Given the description of an element on the screen output the (x, y) to click on. 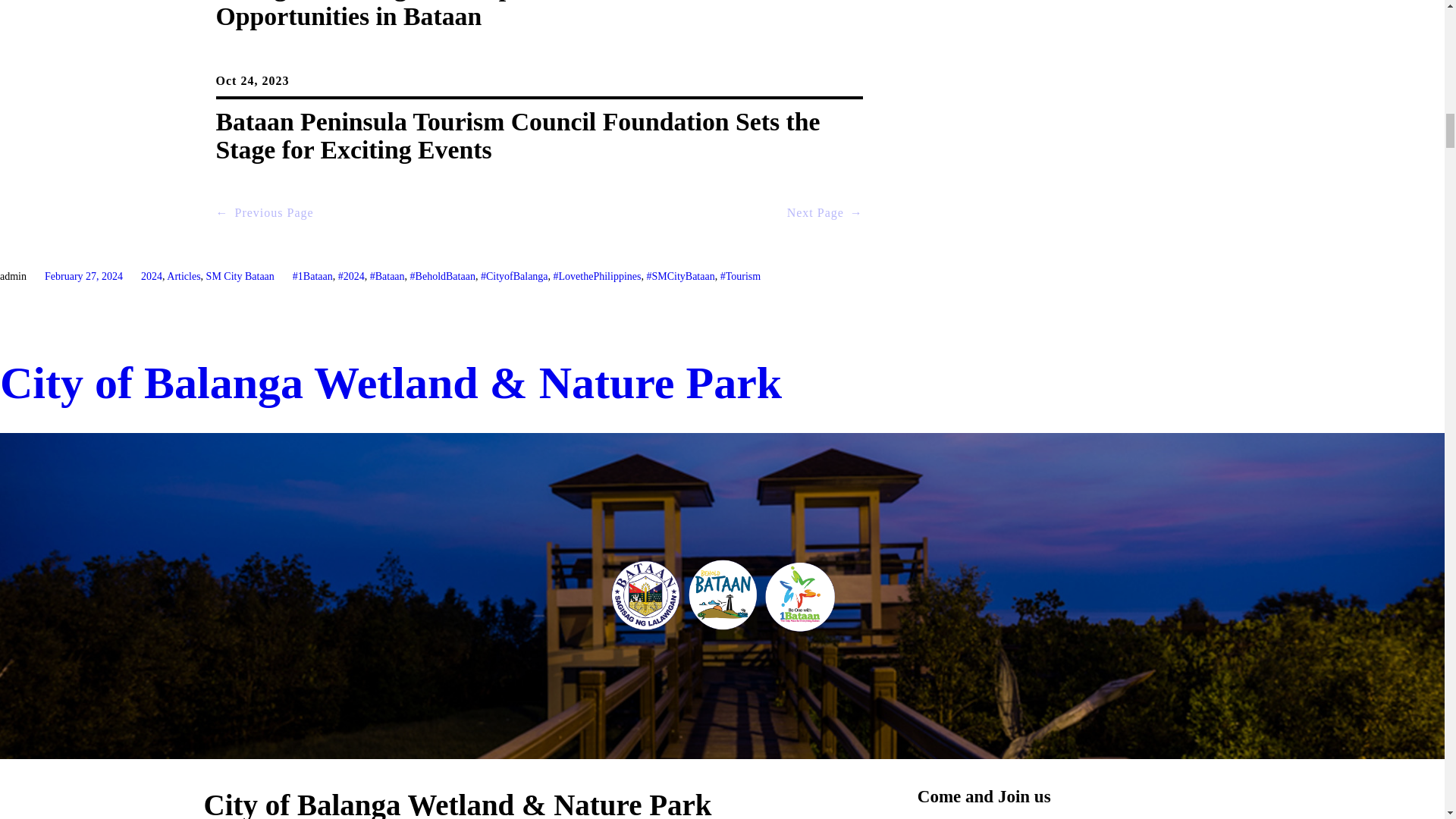
SM City Bataan (240, 276)
February 27, 2024 (83, 276)
Articles (183, 276)
2024 (151, 276)
